Given the description of an element on the screen output the (x, y) to click on. 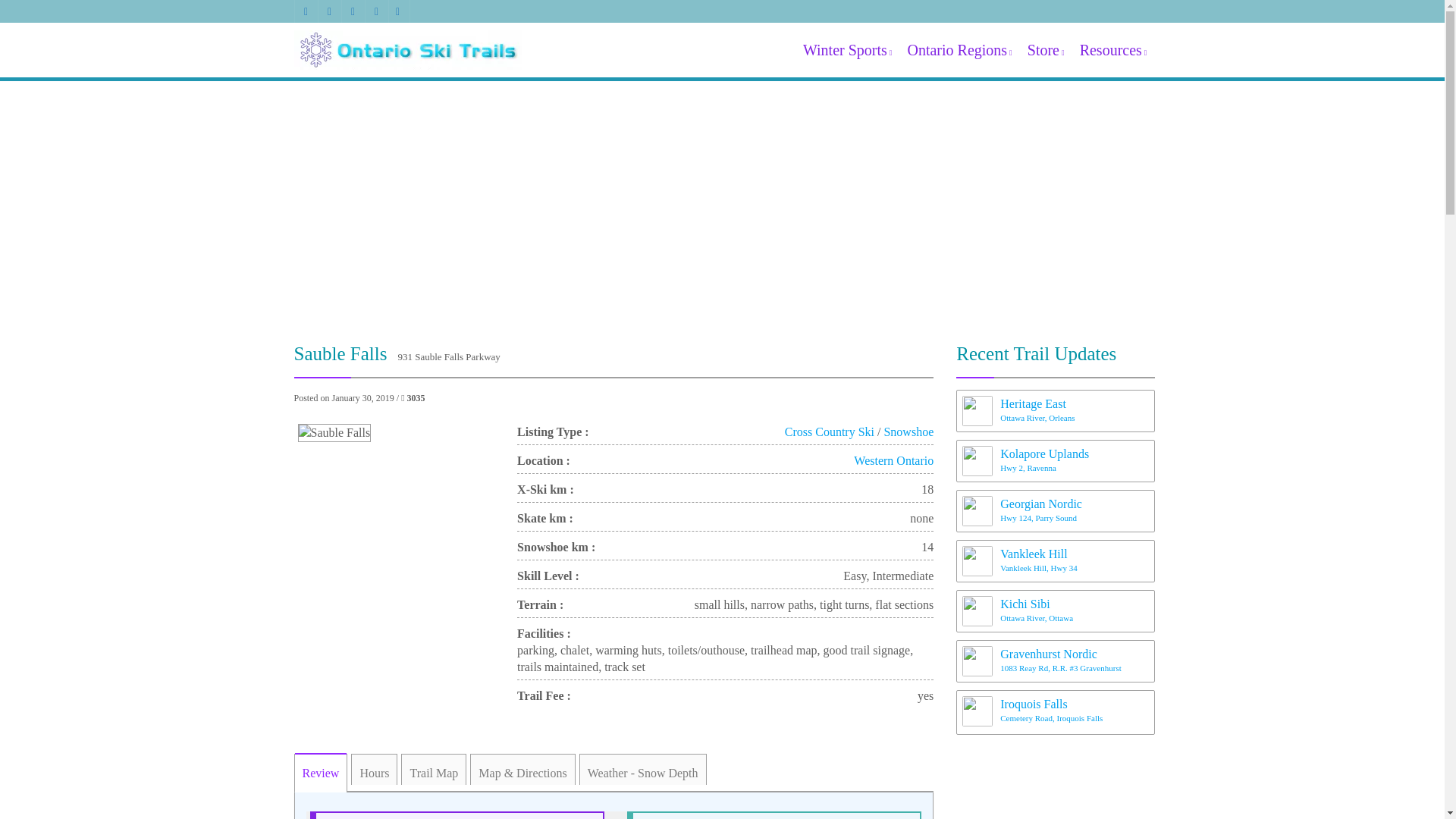
Winter Sports (847, 49)
Ontario Regions (959, 49)
Resources (1113, 49)
